Given the description of an element on the screen output the (x, y) to click on. 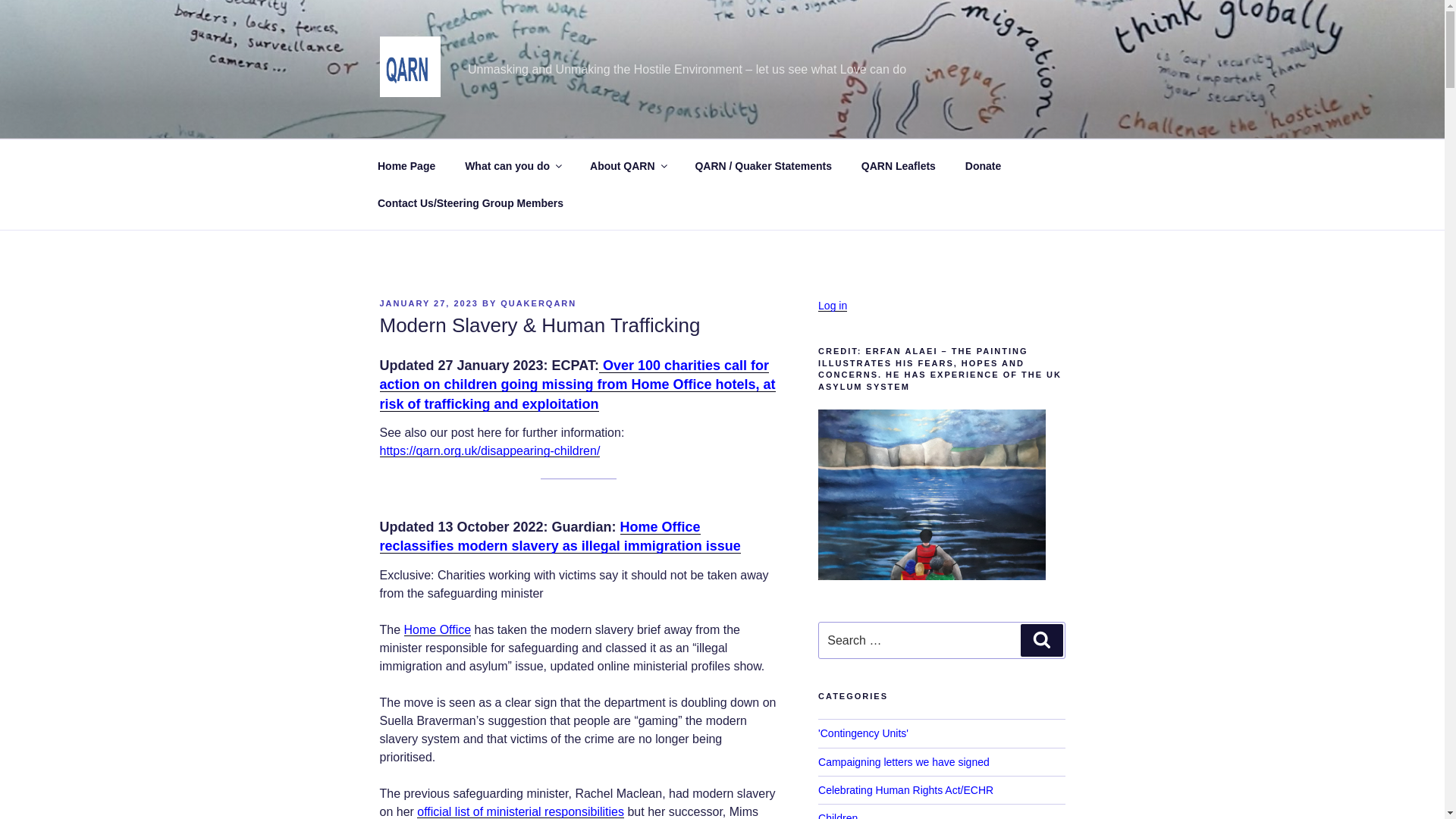
QUAKERQARN (538, 302)
What can you do (512, 165)
Home Page (406, 165)
QARN Leaflets (898, 165)
'Contingency Units' (863, 733)
official list of ministerial responsibilities (520, 811)
JANUARY 27, 2023 (427, 302)
About QARN (627, 165)
Campaigning letters we have signed (904, 761)
